Given the description of an element on the screen output the (x, y) to click on. 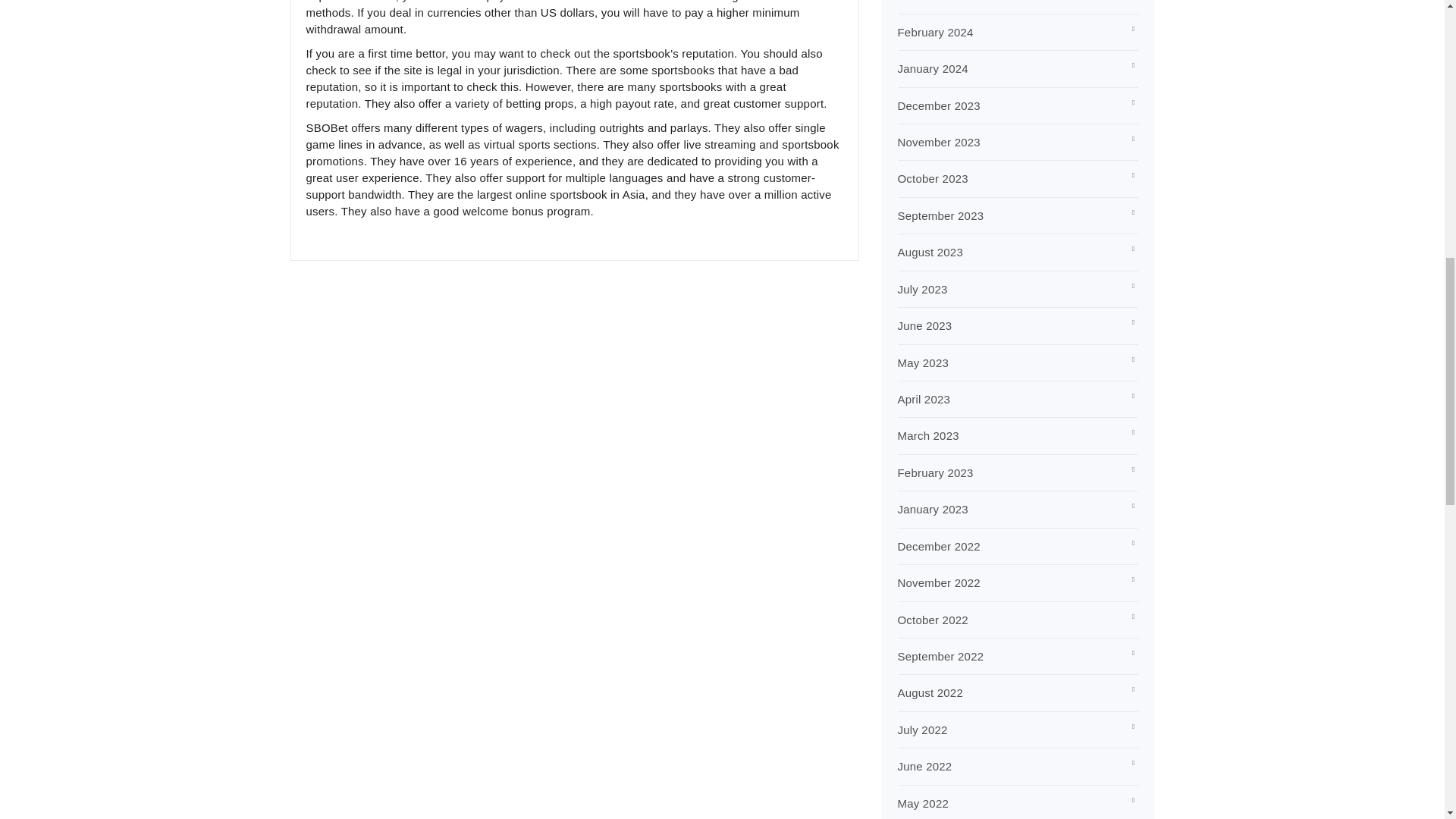
March 2024 (928, 0)
August 2023 (930, 251)
January 2024 (933, 68)
February 2024 (936, 31)
October 2023 (933, 178)
November 2023 (938, 141)
September 2023 (941, 215)
December 2023 (938, 105)
